Given the description of an element on the screen output the (x, y) to click on. 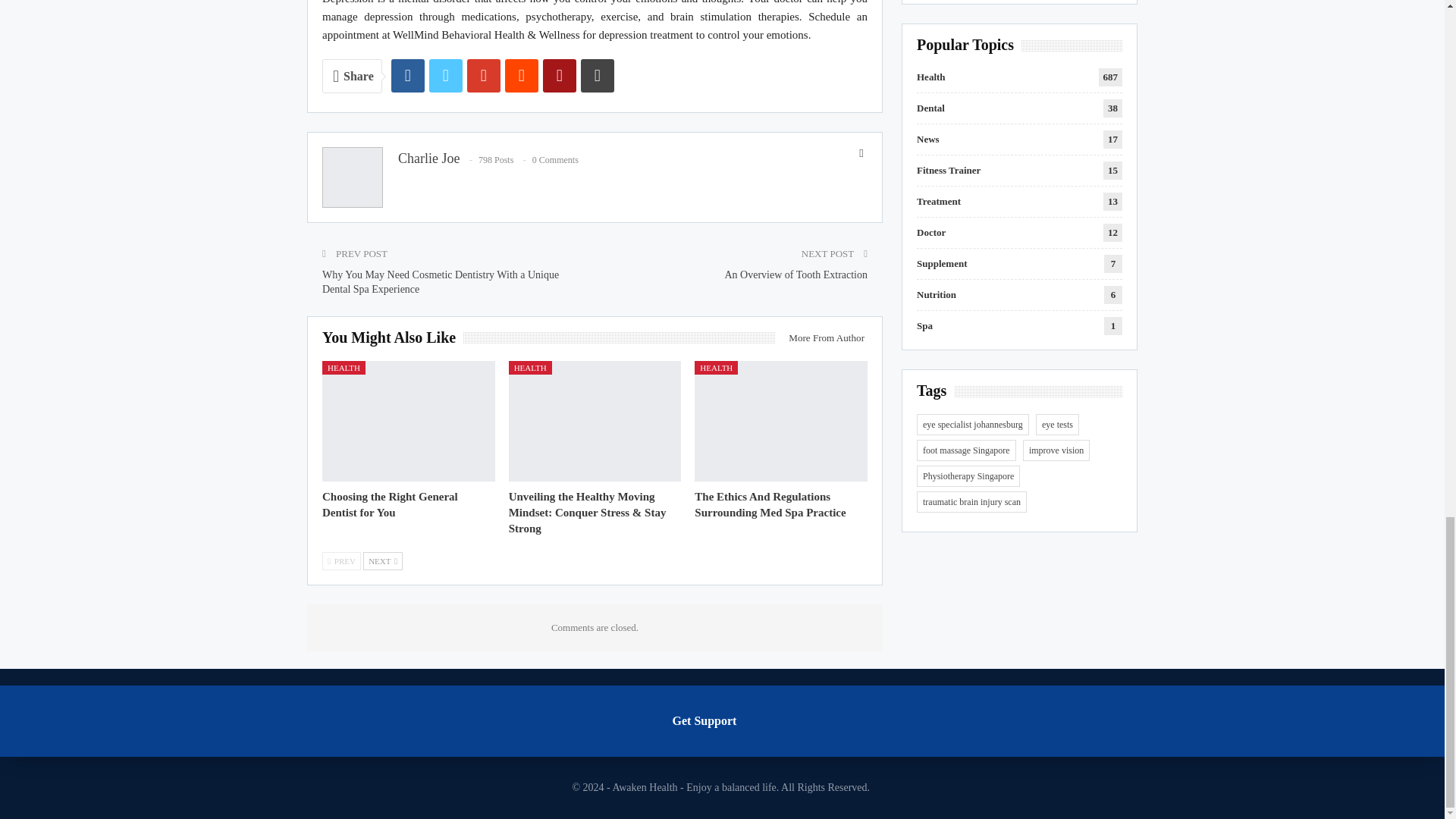
The Ethics And Regulations Surrounding Med Spa Practice (769, 504)
An Overview of Tooth Extraction (796, 274)
The Ethics And Regulations Surrounding Med Spa Practice (780, 421)
Choosing the Right General Dentist for You (408, 421)
Previous (341, 561)
Charlie Joe (428, 158)
Choosing the Right General Dentist for You (389, 504)
Next (382, 561)
